Given the description of an element on the screen output the (x, y) to click on. 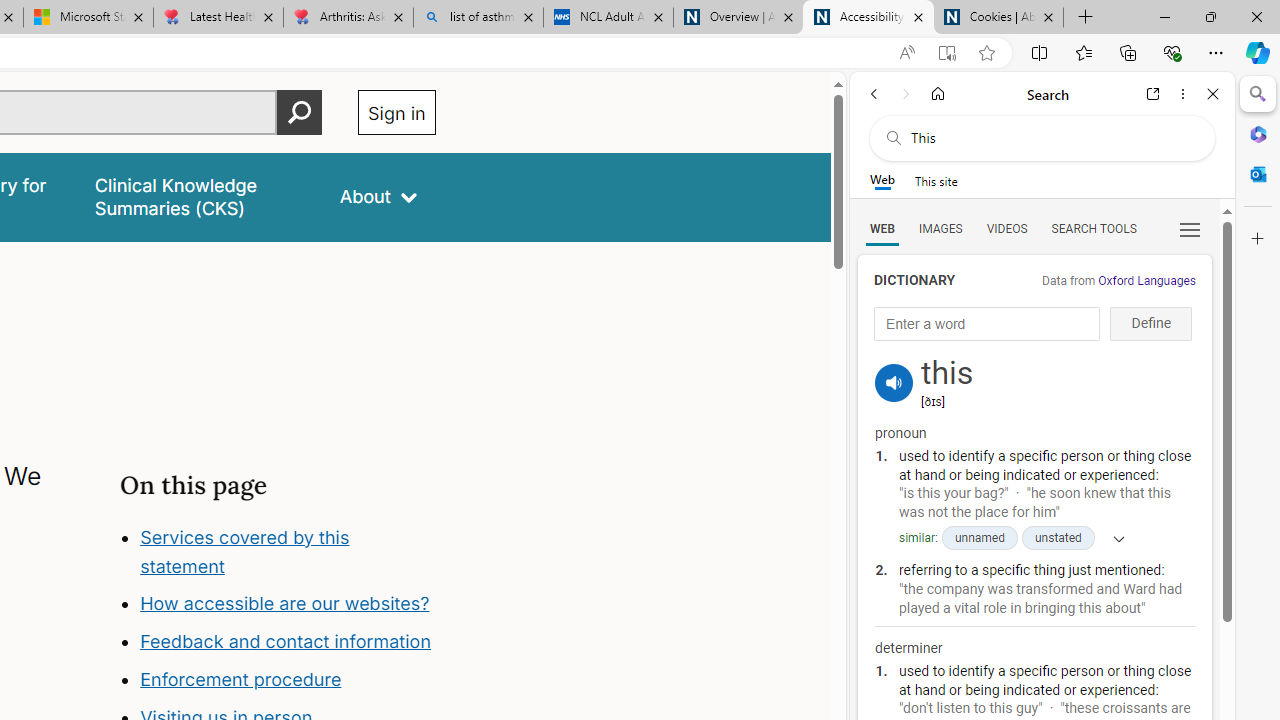
How accessible are our websites? (284, 603)
Enter a word (987, 323)
